Given the description of an element on the screen output the (x, y) to click on. 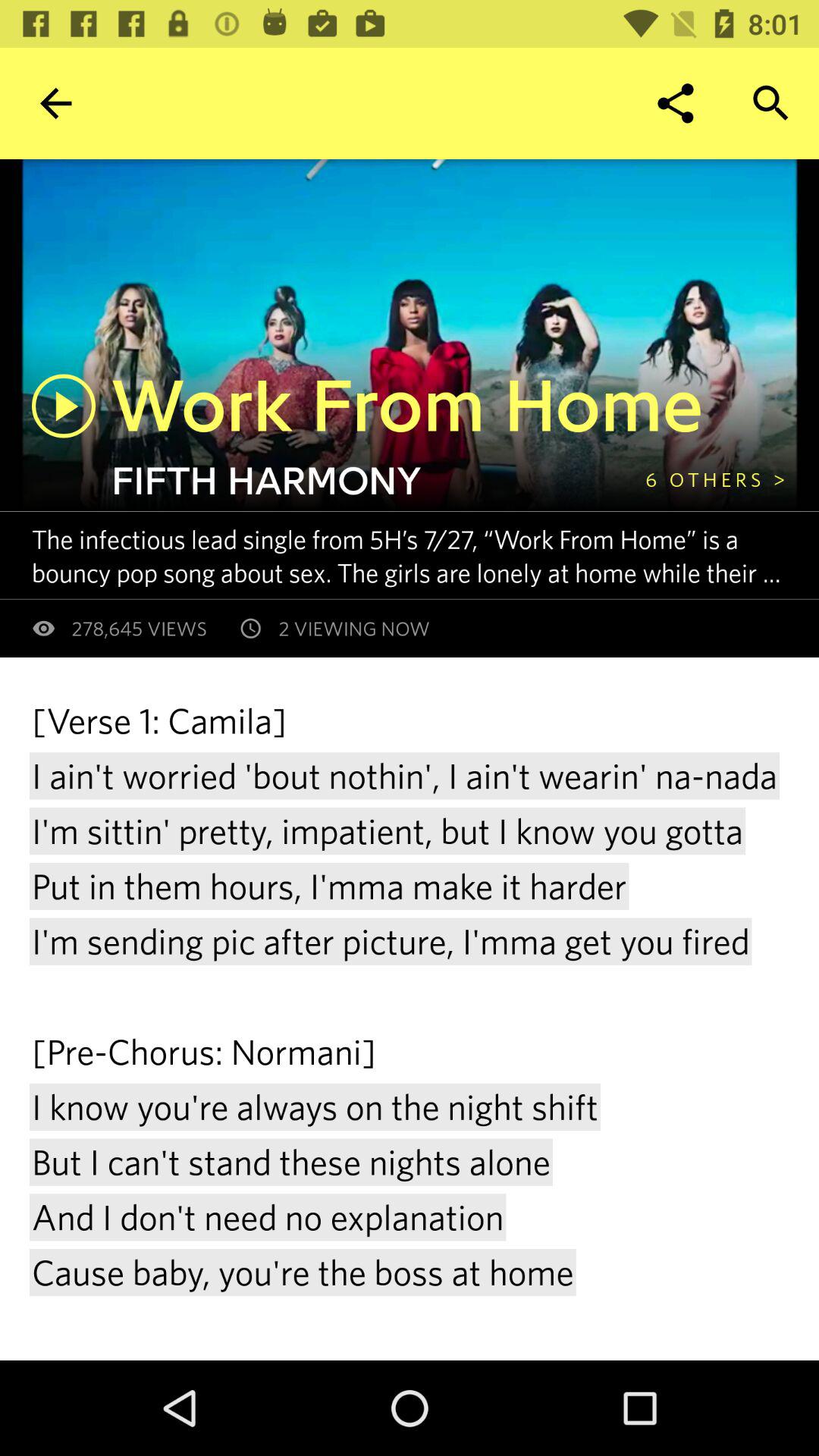
play (63, 405)
